Given the description of an element on the screen output the (x, y) to click on. 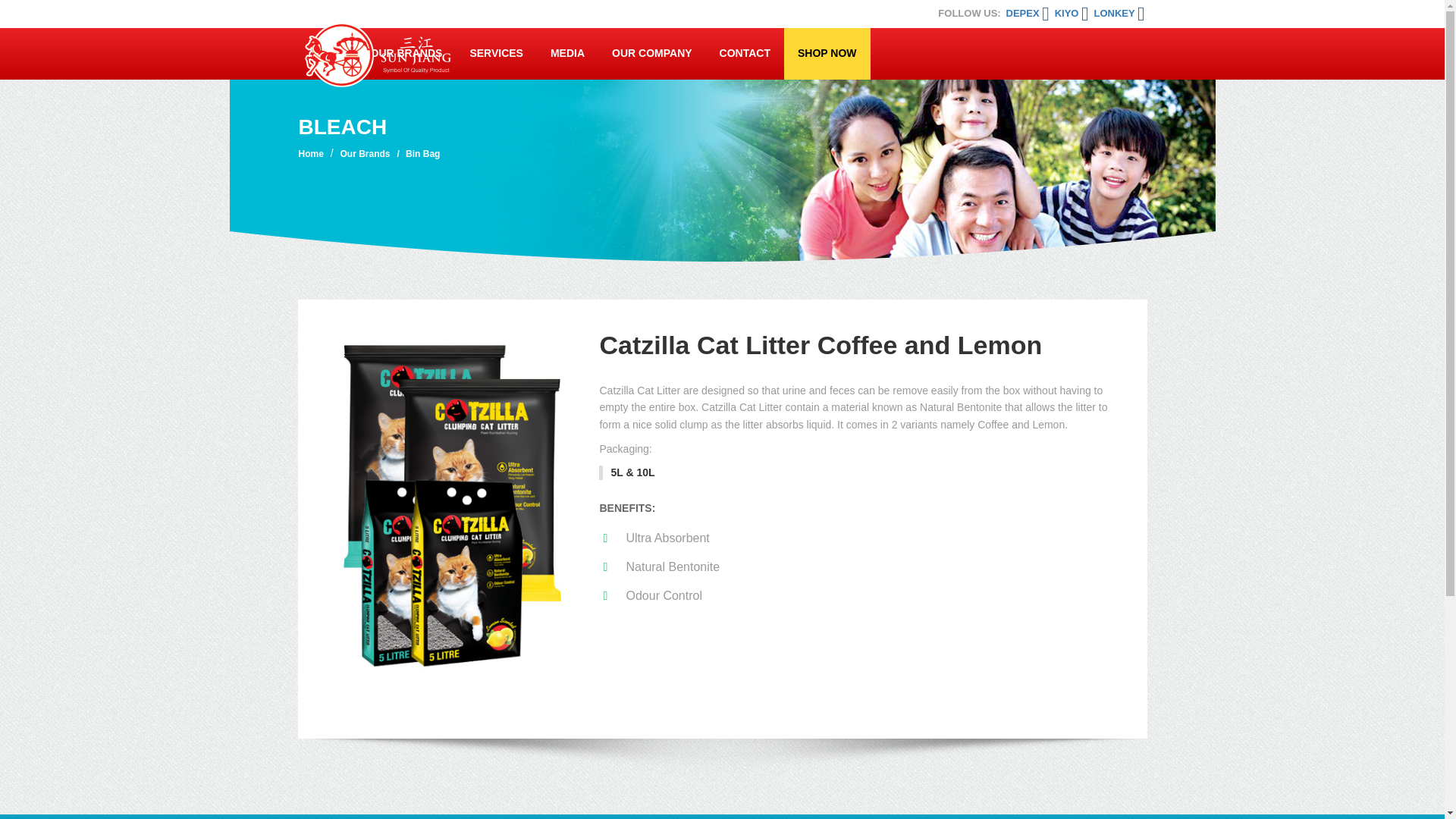
MEDIA (567, 53)
HOME (326, 53)
OUR COMPANY (652, 53)
OUR BRANDS (405, 53)
LONKEY (1118, 12)
DEPEX (1027, 12)
KIYO (1071, 12)
SERVICES (496, 53)
